Given the description of an element on the screen output the (x, y) to click on. 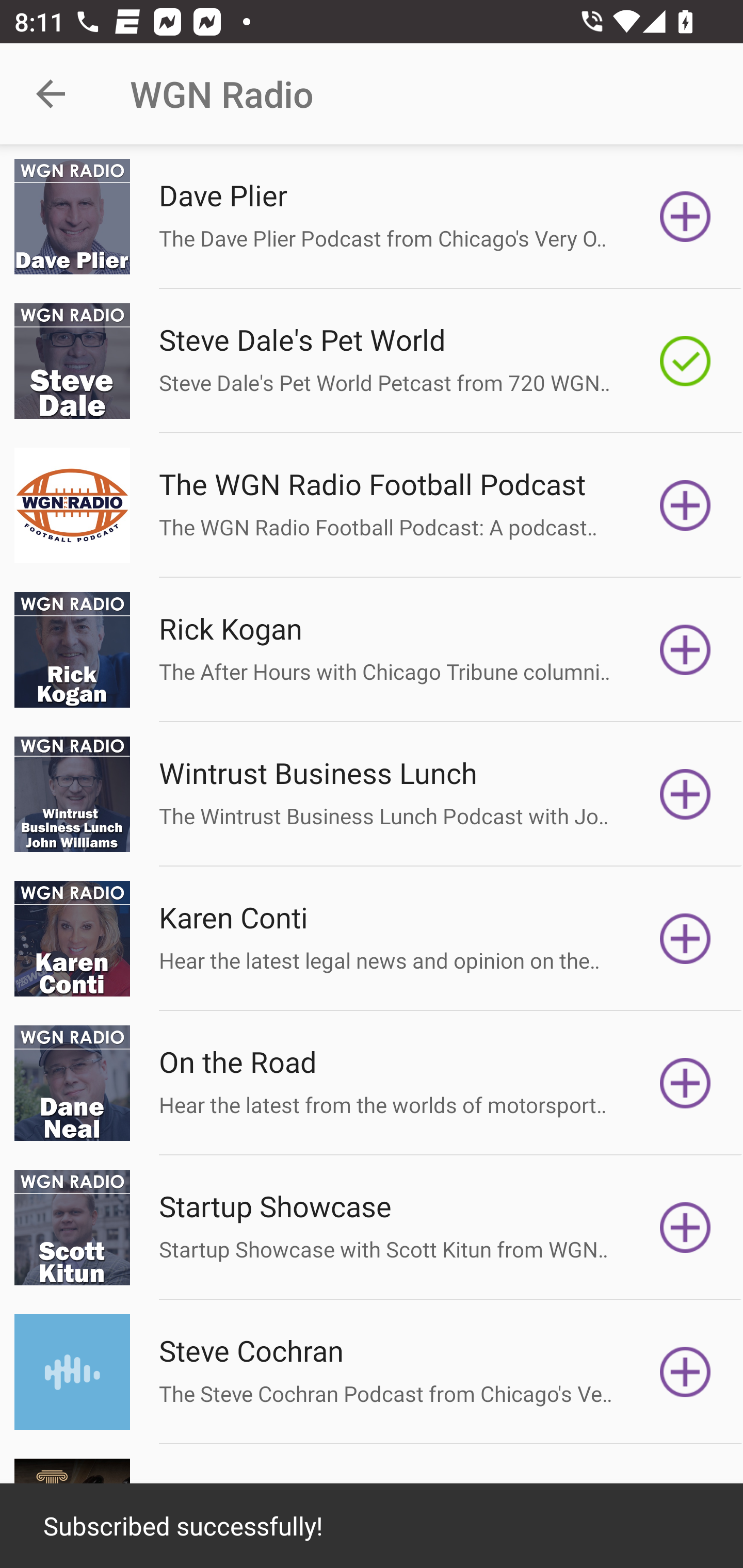
Navigate up (50, 93)
Subscribe (685, 216)
Subscribed (685, 360)
Subscribe (685, 505)
Subscribe (685, 649)
Subscribe (685, 793)
Subscribe (685, 939)
Subscribe (685, 1083)
Subscribe (685, 1227)
Subscribe (685, 1371)
Subscribed successfully! (371, 1525)
